Given the description of an element on the screen output the (x, y) to click on. 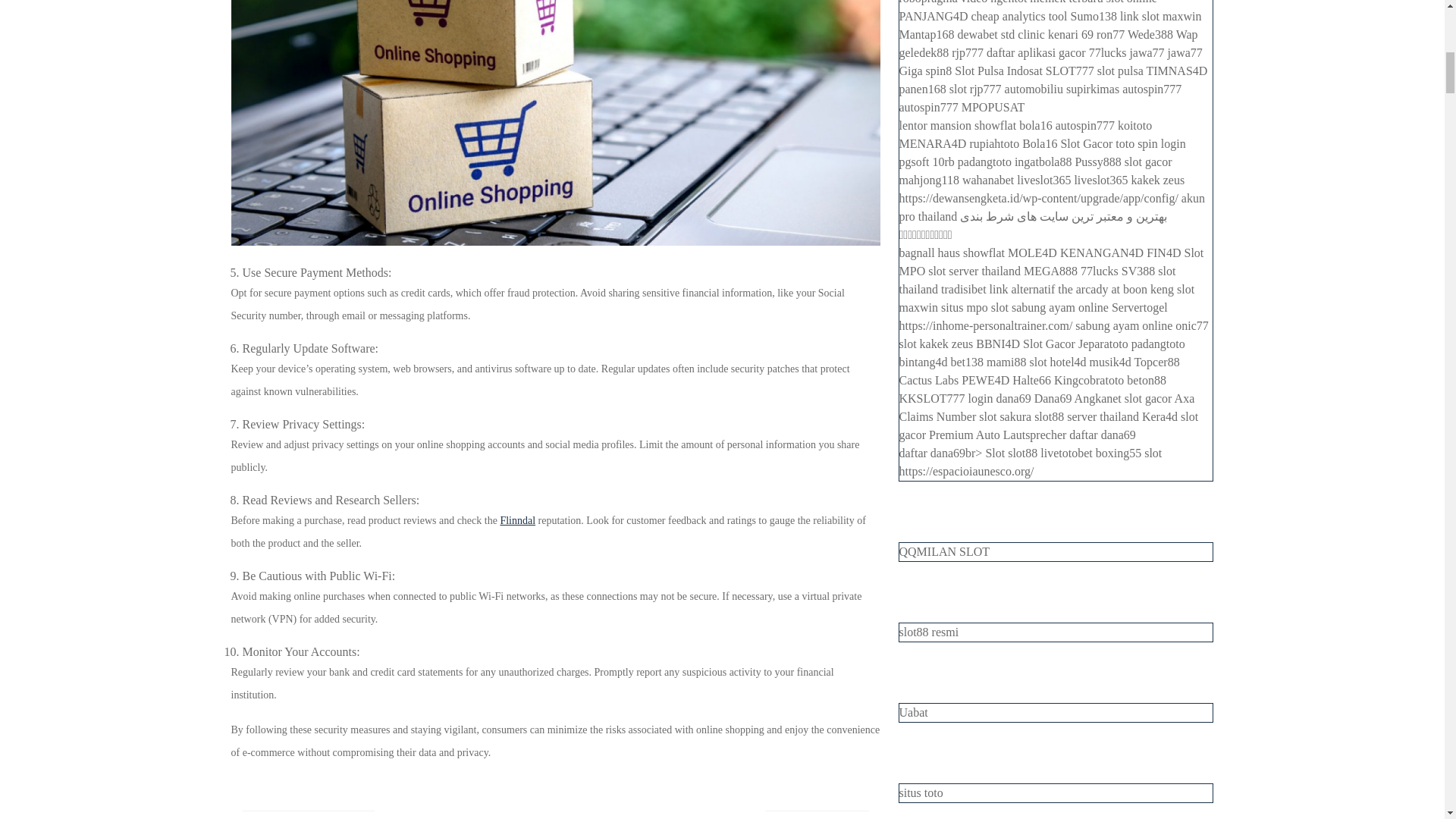
Flinndal (307, 809)
